Given the description of an element on the screen output the (x, y) to click on. 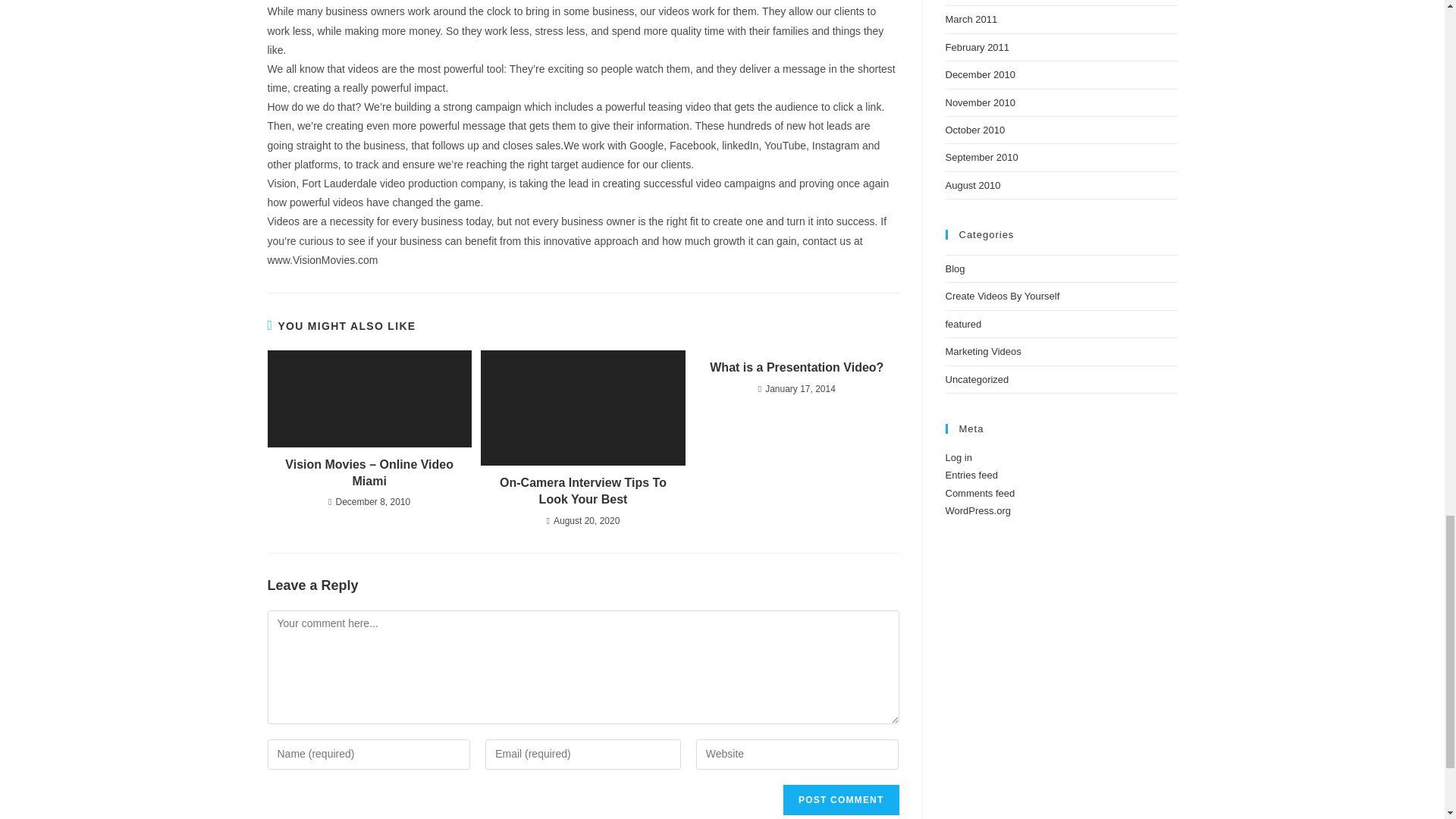
On-Camera Interview Tips To Look Your Best (582, 491)
Post Comment (840, 799)
What is a Presentation Video? (796, 367)
